Given the description of an element on the screen output the (x, y) to click on. 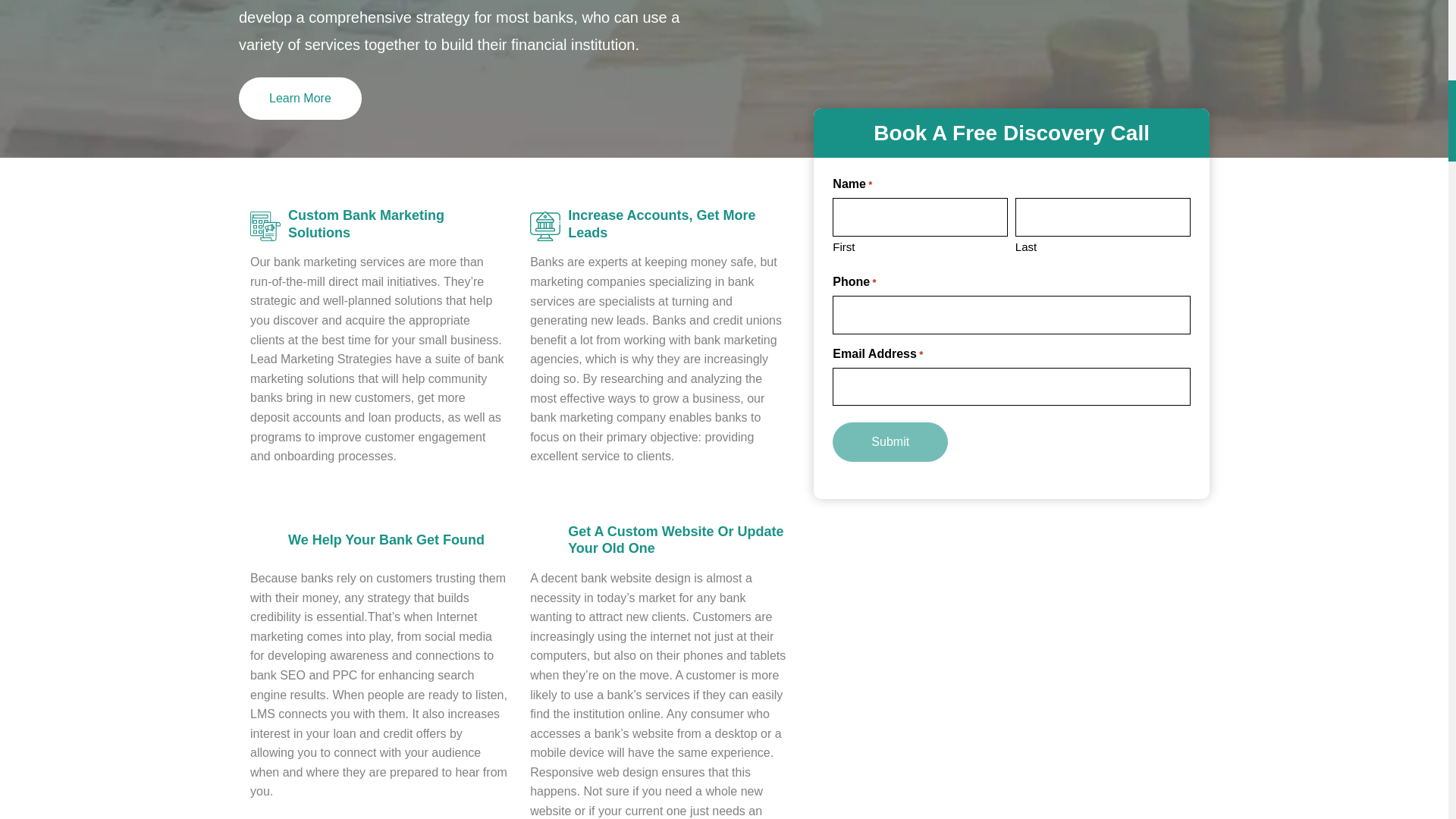
Submit (889, 441)
Book A Free Discovery Call (1011, 132)
Learn More (299, 97)
Submit (889, 441)
